Given the description of an element on the screen output the (x, y) to click on. 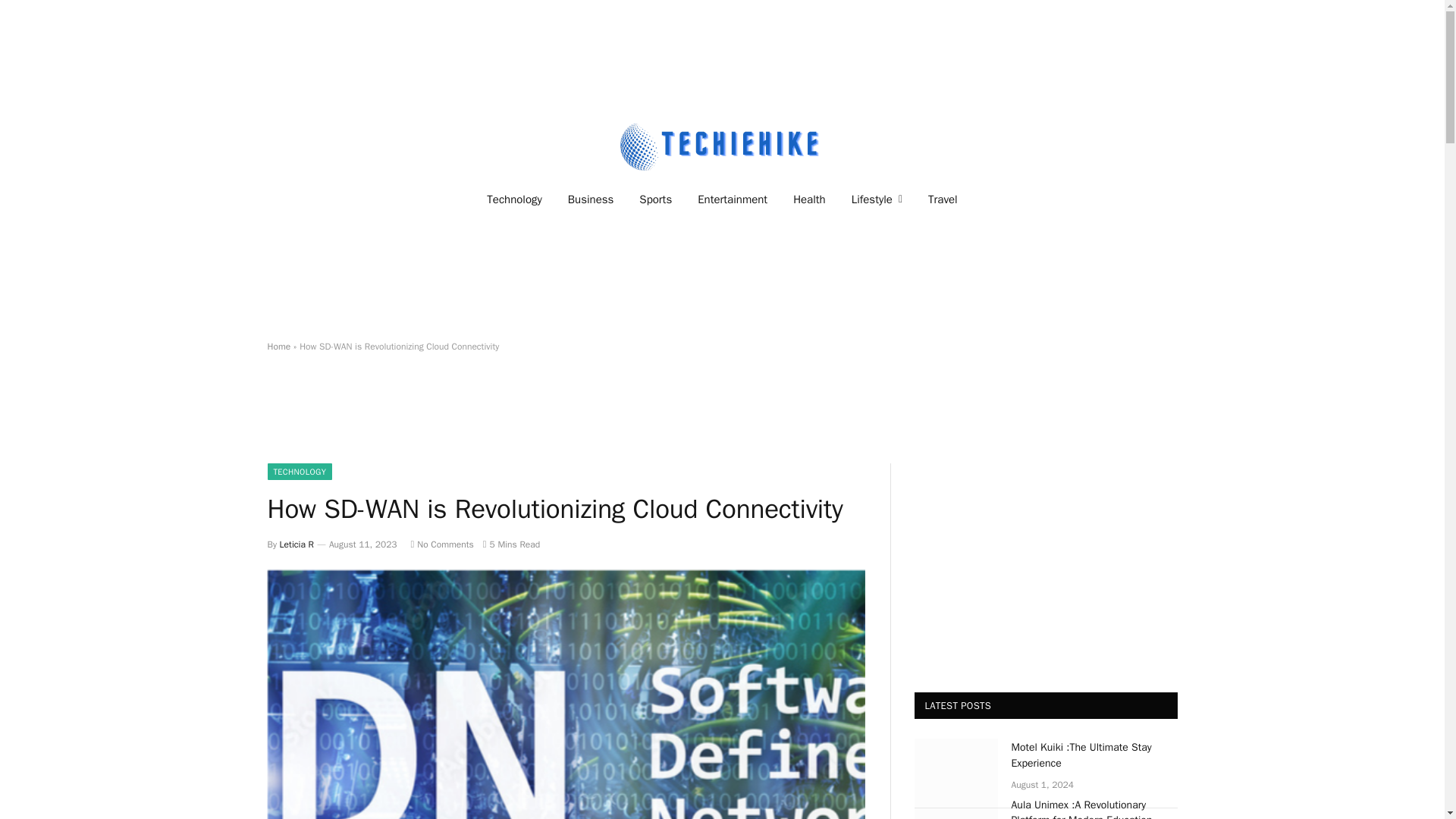
Technology (514, 199)
Aula Unimex :A Revolutionary Platform for Modern Education (955, 807)
Home (277, 346)
Travel (943, 199)
Business (590, 199)
Lifestyle (876, 199)
Motel Kuiki :The Ultimate Stay Experience (955, 767)
Leticia R (296, 544)
Posts by Leticia R (296, 544)
Sports (655, 199)
Techie Hike (722, 145)
Health (809, 199)
TECHNOLOGY (298, 471)
No Comments (442, 544)
